Given the description of an element on the screen output the (x, y) to click on. 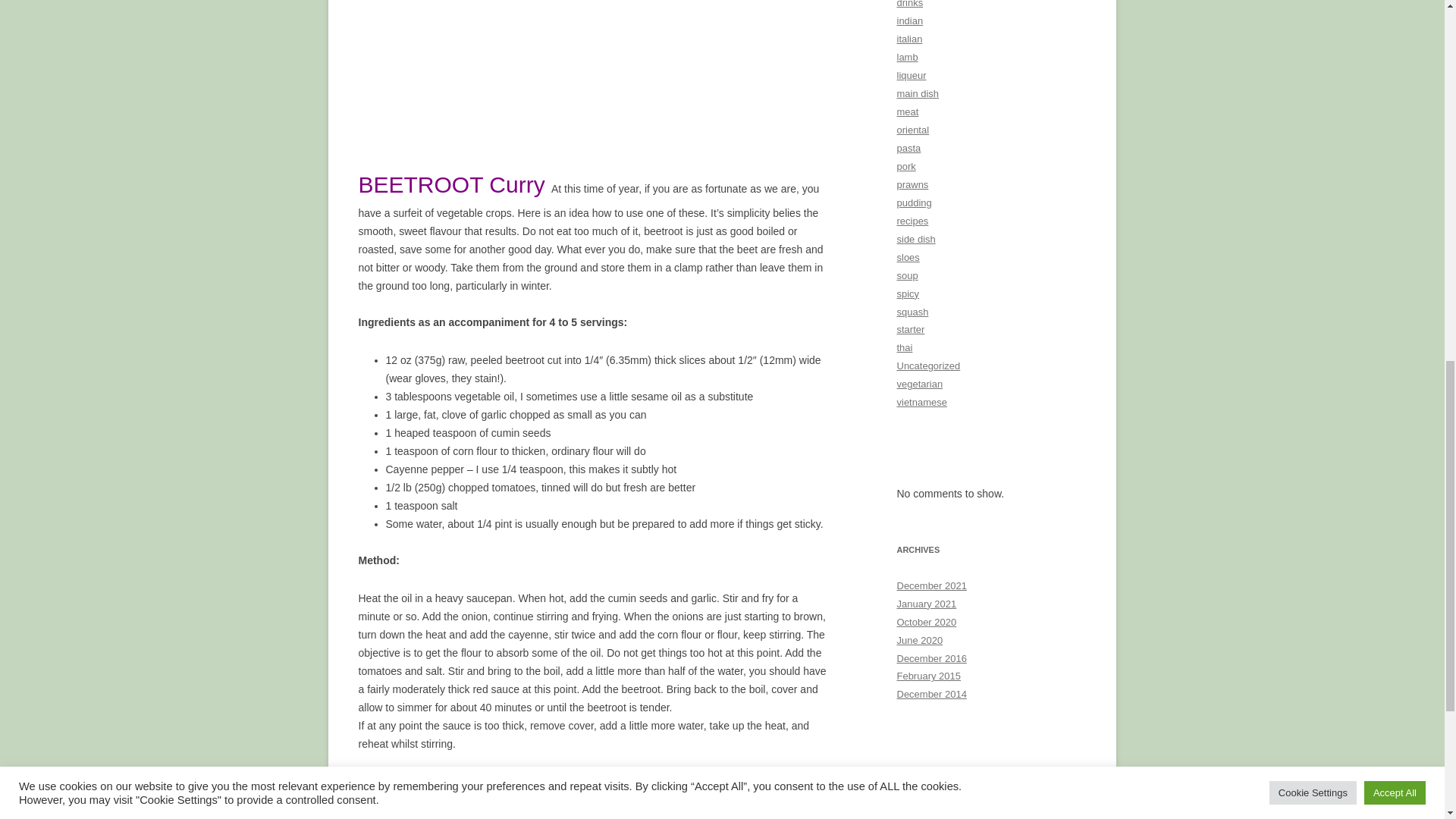
vegetarian (710, 779)
beetroot (805, 779)
recipe (499, 797)
February 18, 2015 (669, 797)
oriental (556, 779)
spicy (670, 779)
curry (408, 797)
side dish (634, 779)
11:21 am (669, 797)
beetroot (485, 779)
oriental (464, 797)
recipes (594, 779)
indian (521, 779)
vegetable (539, 797)
vegetarian (589, 797)
